Given the description of an element on the screen output the (x, y) to click on. 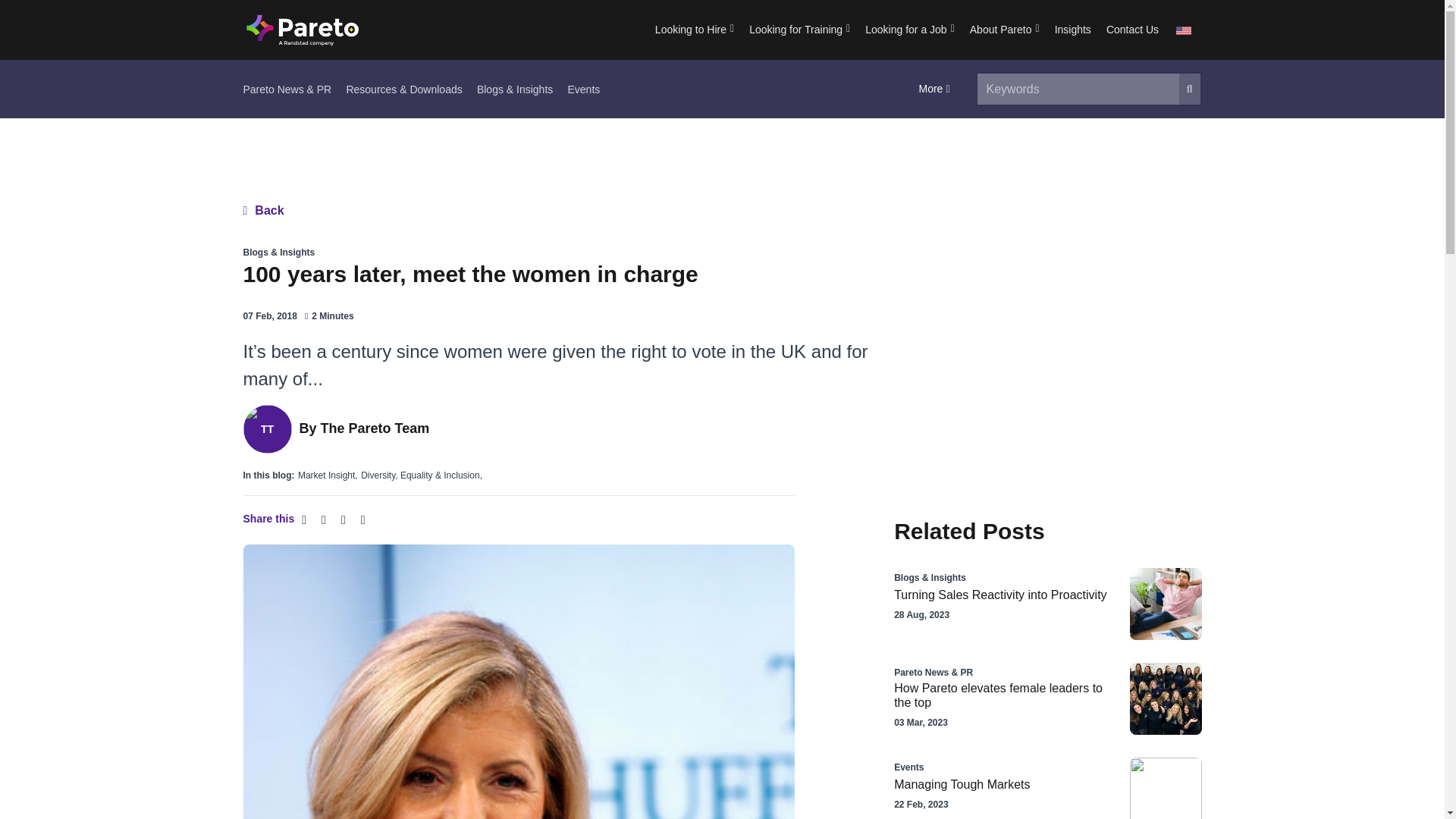
Insights (1072, 29)
Looking to Hire (694, 29)
Contact Us (1132, 29)
About Pareto (1004, 29)
Looking for Training (799, 29)
Looking for a Job (909, 29)
